Given the description of an element on the screen output the (x, y) to click on. 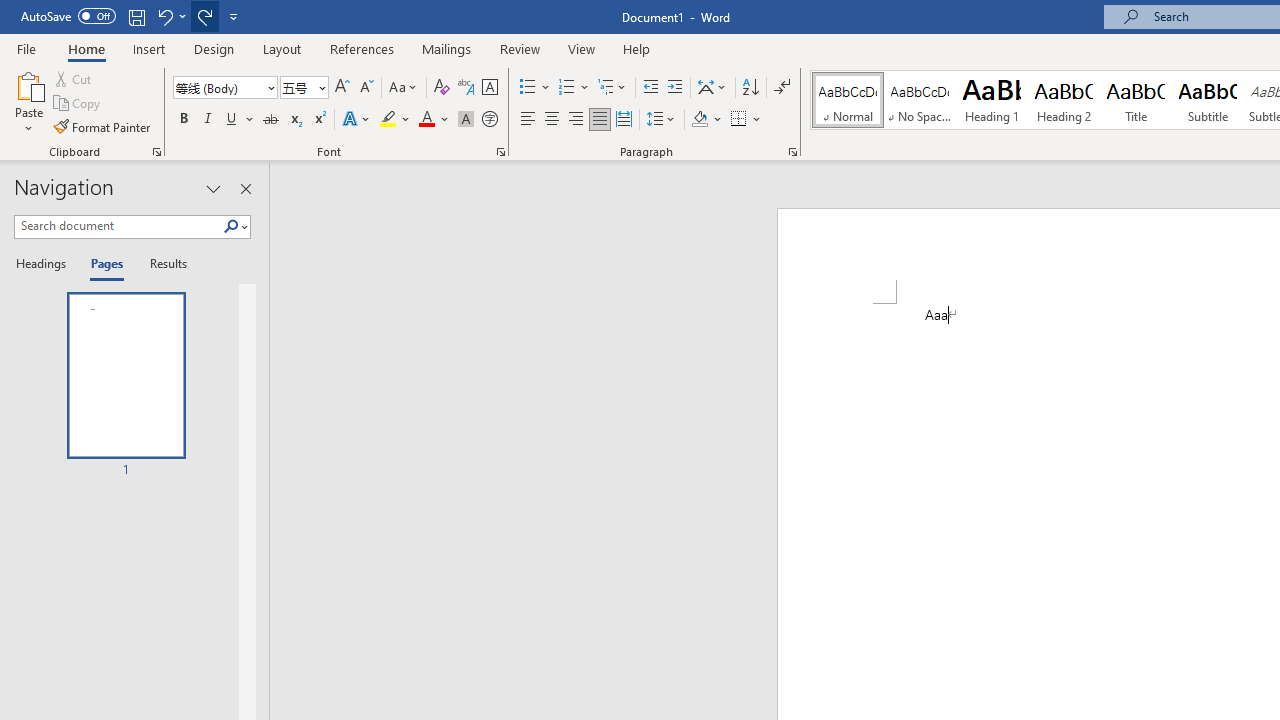
Align Left (527, 119)
Line and Paragraph Spacing (661, 119)
Font Color (434, 119)
Results (161, 264)
Format Painter (103, 126)
Shading RGB(0, 0, 0) (699, 119)
Justify (599, 119)
Increase Indent (675, 87)
Pages (105, 264)
Redo Style (204, 15)
